Given the description of an element on the screen output the (x, y) to click on. 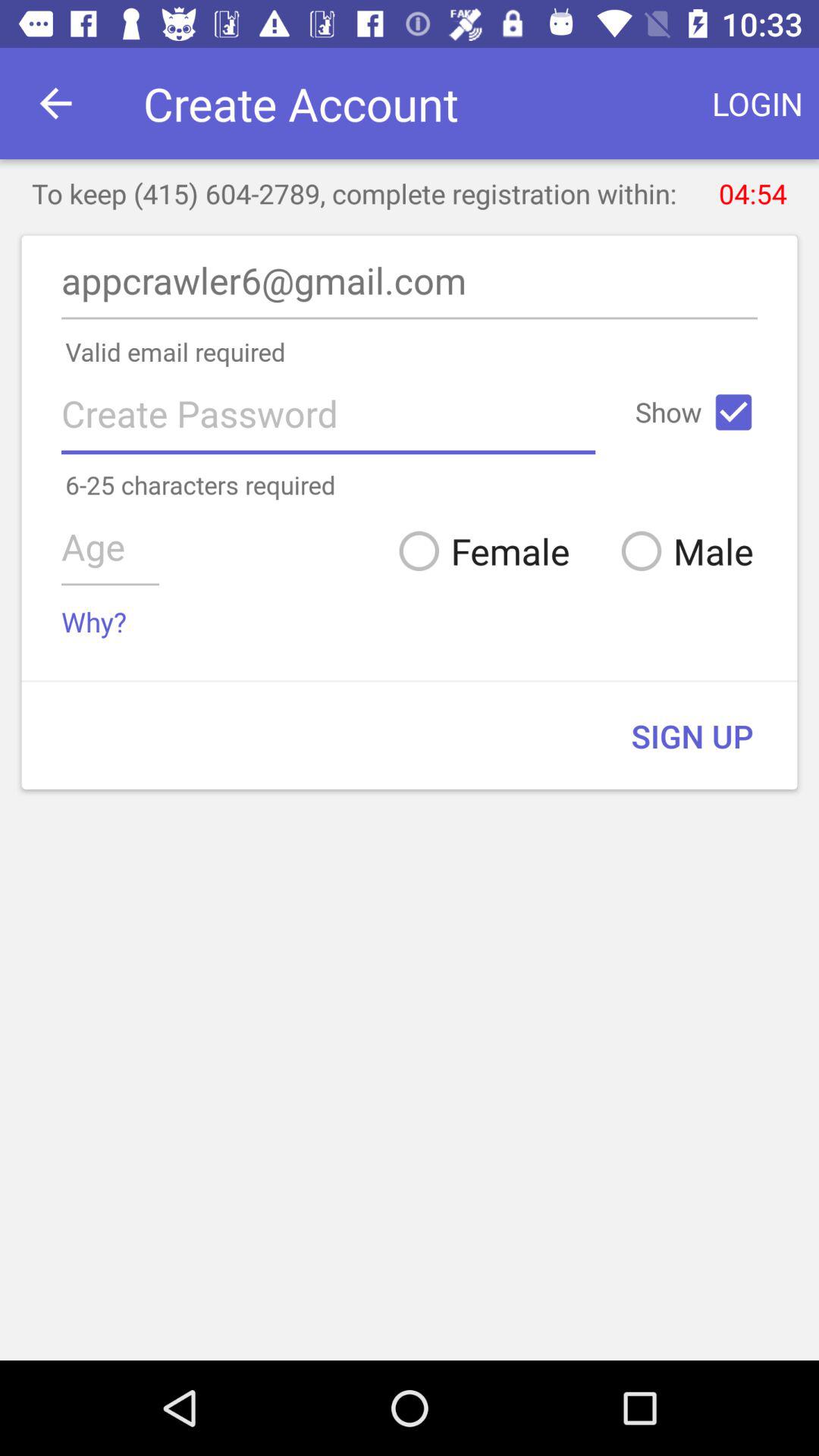
scroll until male item (681, 550)
